Given the description of an element on the screen output the (x, y) to click on. 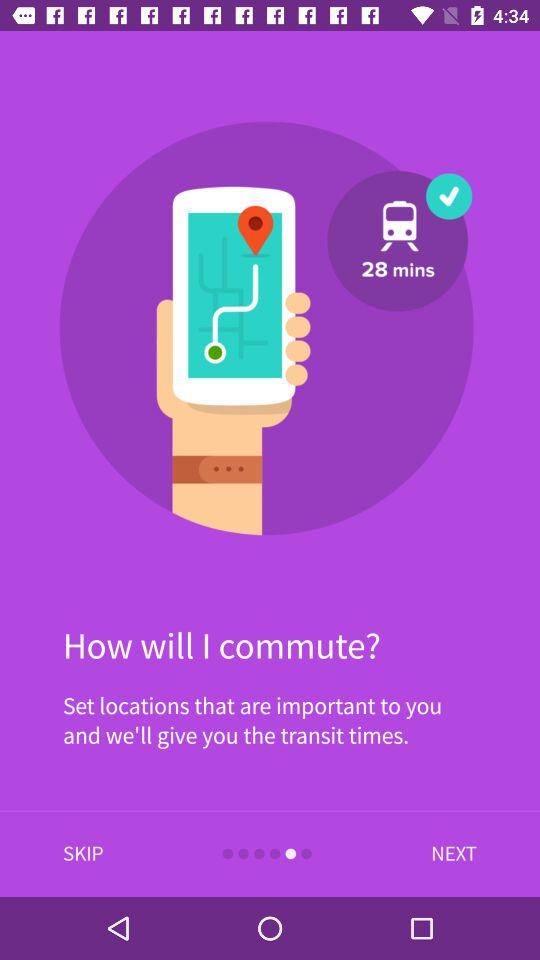
launch item at the bottom right corner (449, 853)
